Given the description of an element on the screen output the (x, y) to click on. 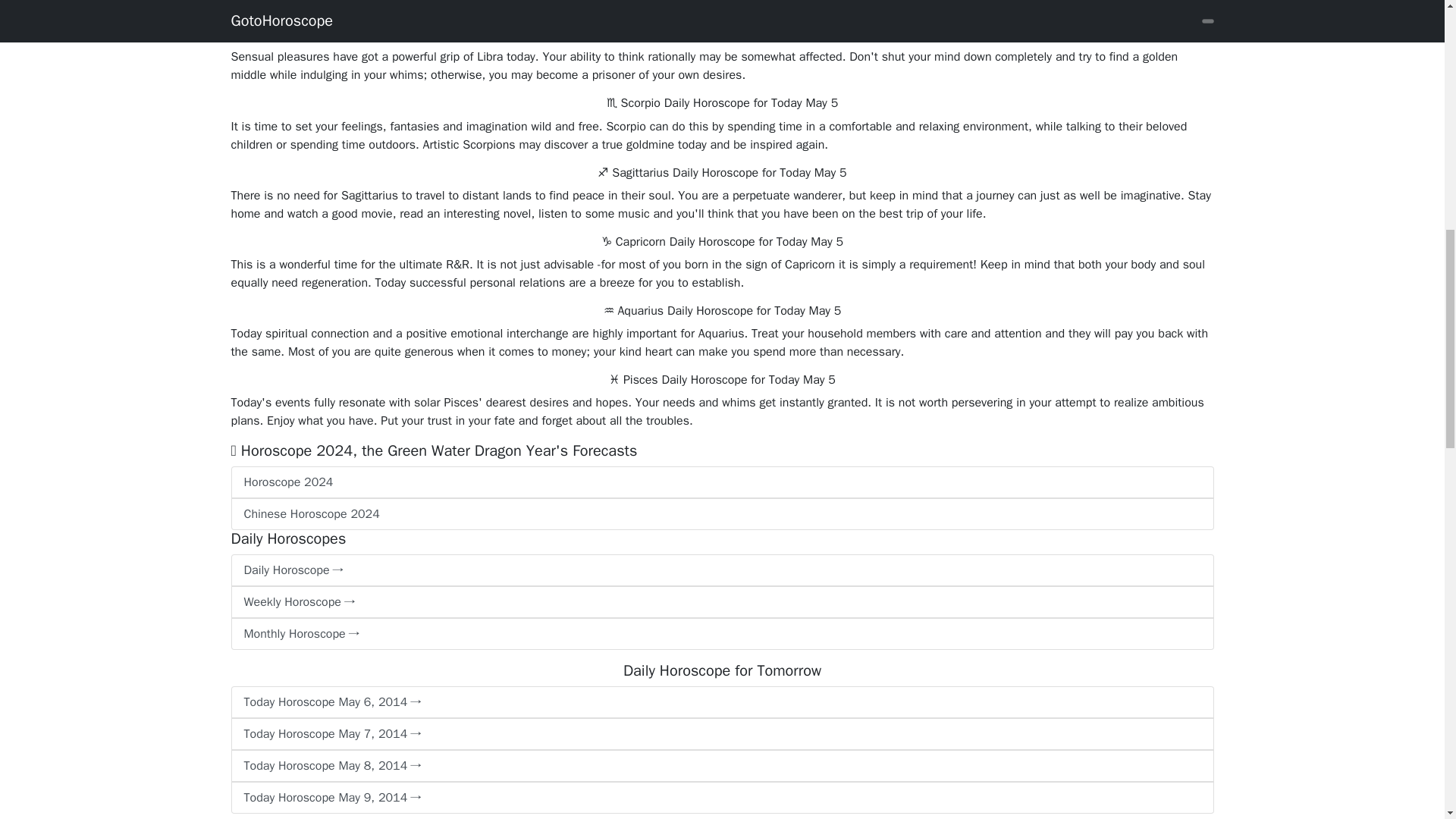
Today Horoscope May 9, 2014 (721, 798)
Today Horoscope May 7, 2014 (721, 734)
Monthly Horoscope (721, 634)
Chinese Horoscope 2024 (721, 513)
Today Horoscope May 6, 2014 (721, 702)
Horoscope 2024 (721, 481)
Today Horoscope May 8, 2014 (721, 766)
Daily Horoscope (721, 570)
Weekly Horoscope (721, 602)
